Given the description of an element on the screen output the (x, y) to click on. 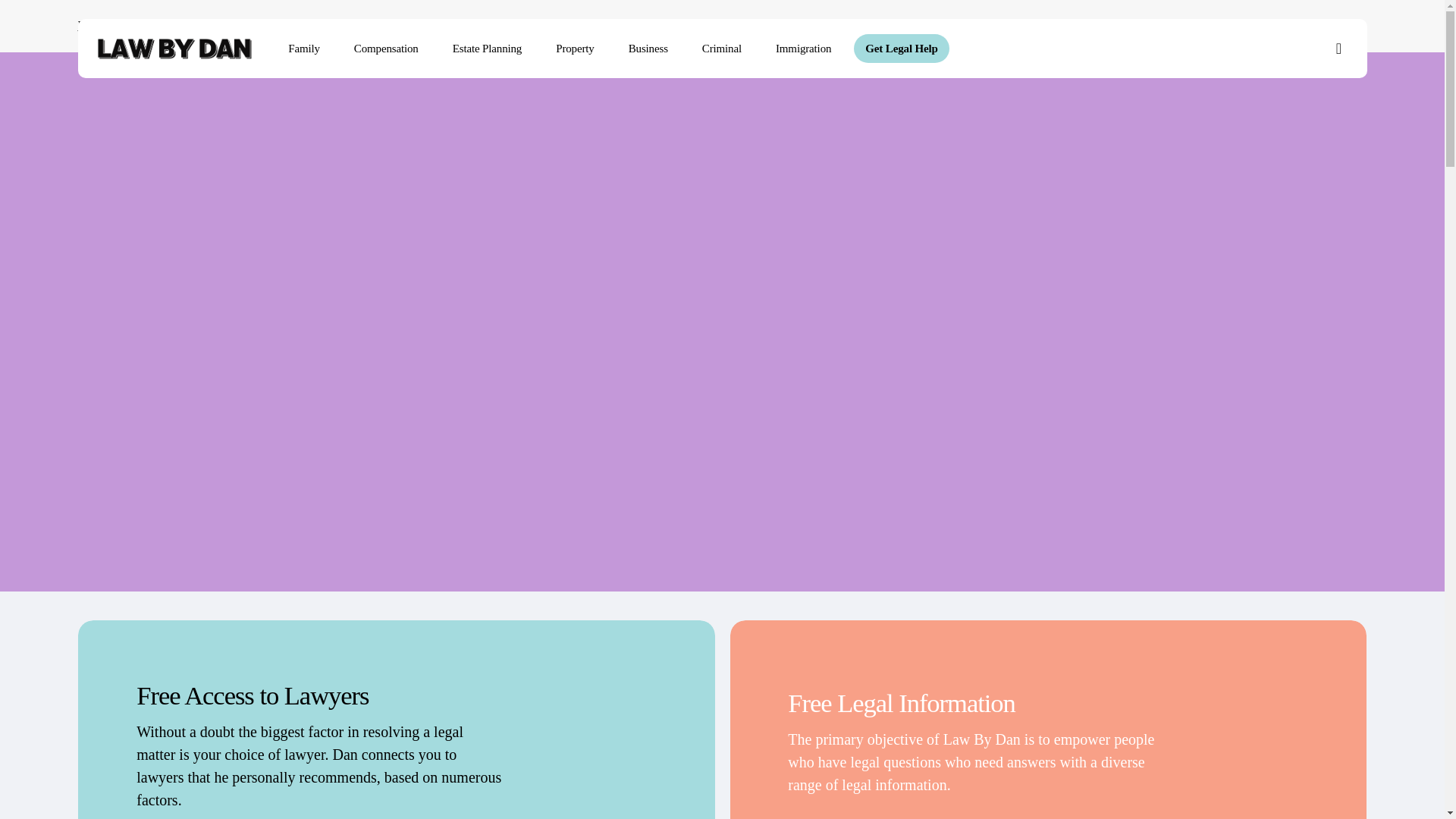
search (1339, 48)
Compensation (385, 48)
Criminal (721, 48)
Home (91, 24)
Business (648, 48)
Estate Planning (487, 48)
Immigration (803, 48)
Property (574, 48)
Family (303, 48)
Get Legal Help (901, 48)
